Given the description of an element on the screen output the (x, y) to click on. 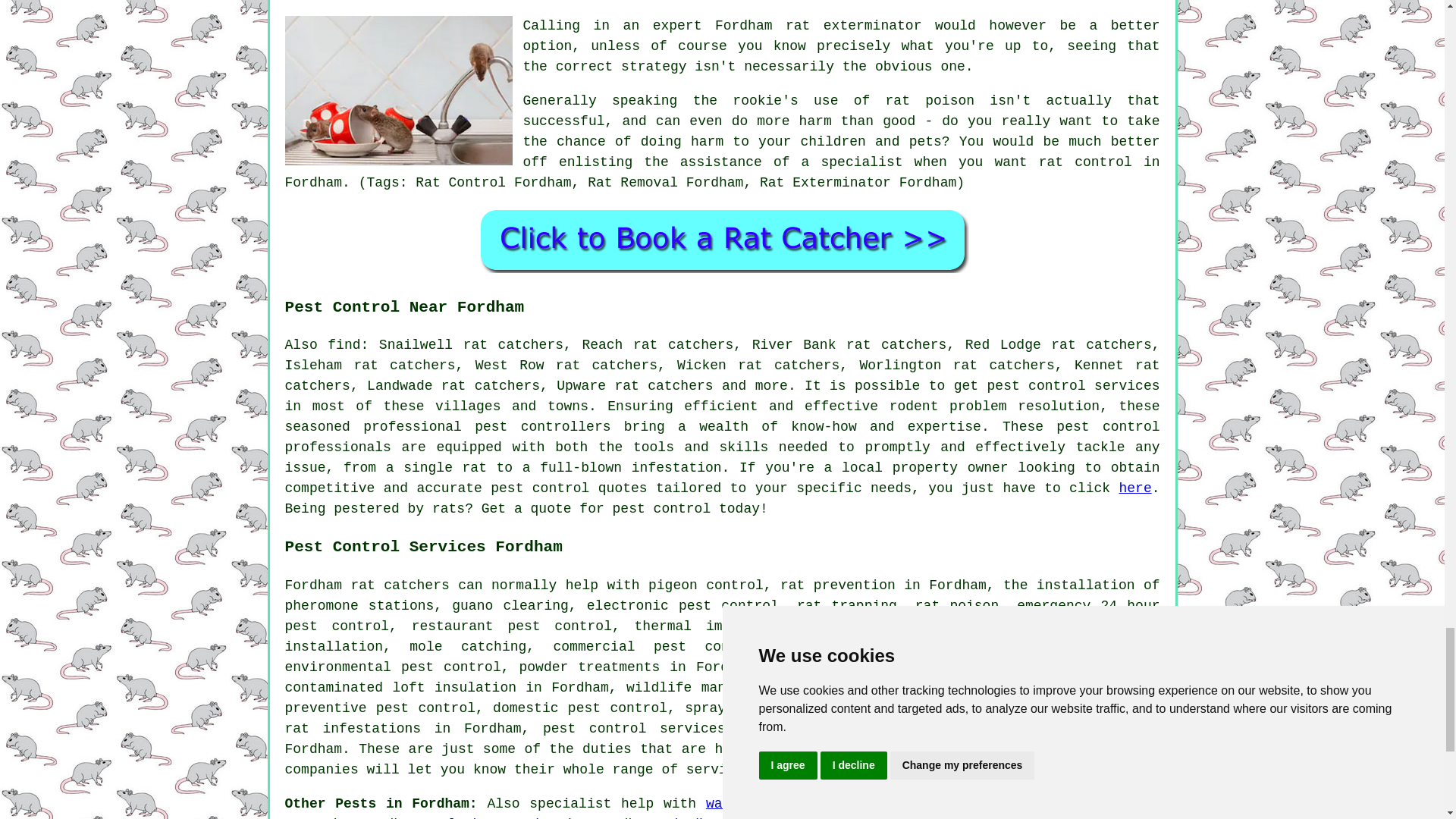
pest control (1107, 426)
pest control quotes (568, 488)
pest control services (1073, 385)
rat catchers (399, 585)
